Given the description of an element on the screen output the (x, y) to click on. 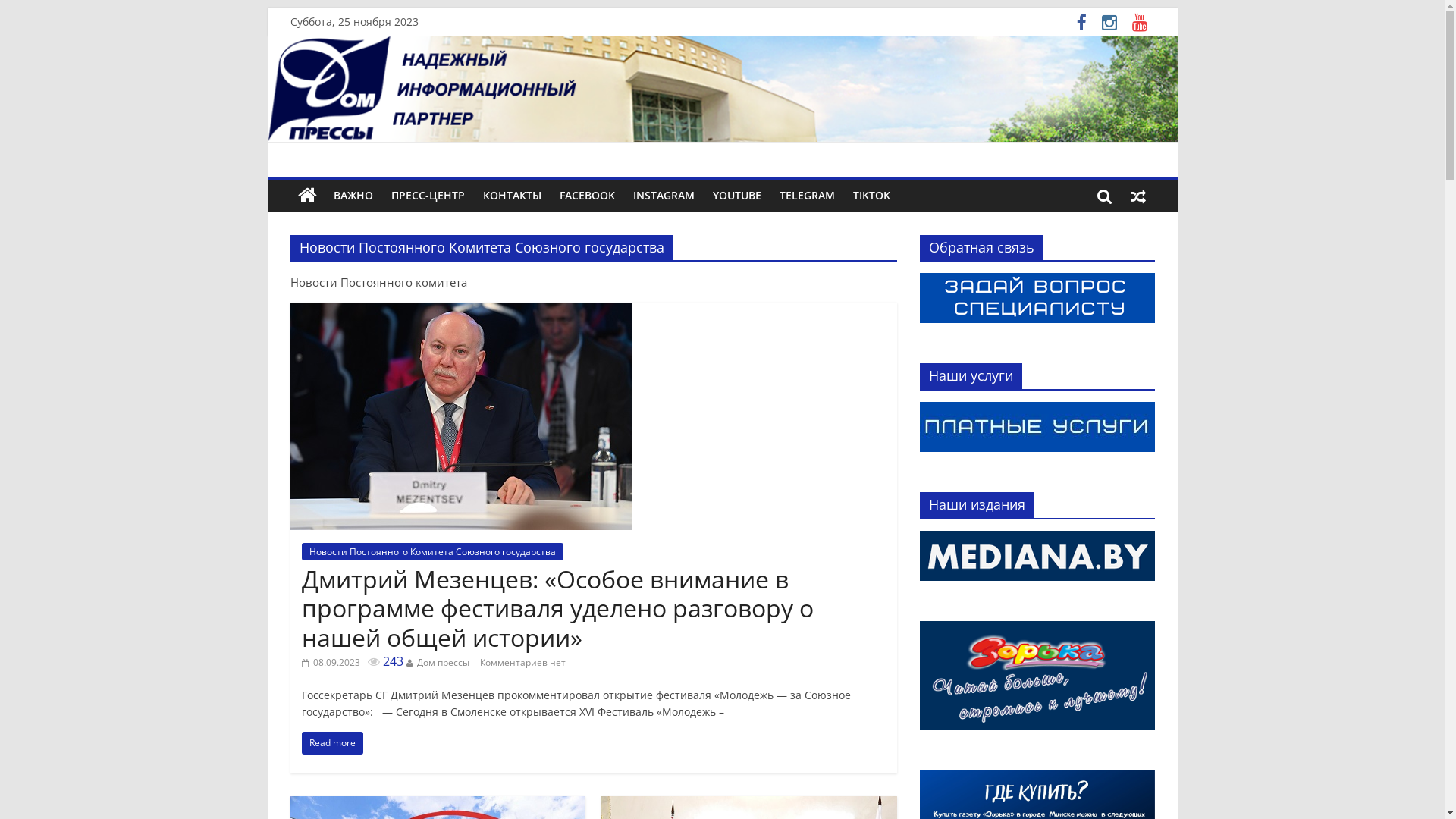
YOUTUBE Element type: text (736, 195)
FACEBOOK Element type: text (587, 195)
08.09.2023 Element type: text (330, 661)
TIKTOK Element type: text (870, 195)
INSTAGRAM Element type: text (662, 195)
243 Element type: text (384, 660)
Read more Element type: text (332, 742)
TELEGRAM Element type: text (807, 195)
